Given the description of an element on the screen output the (x, y) to click on. 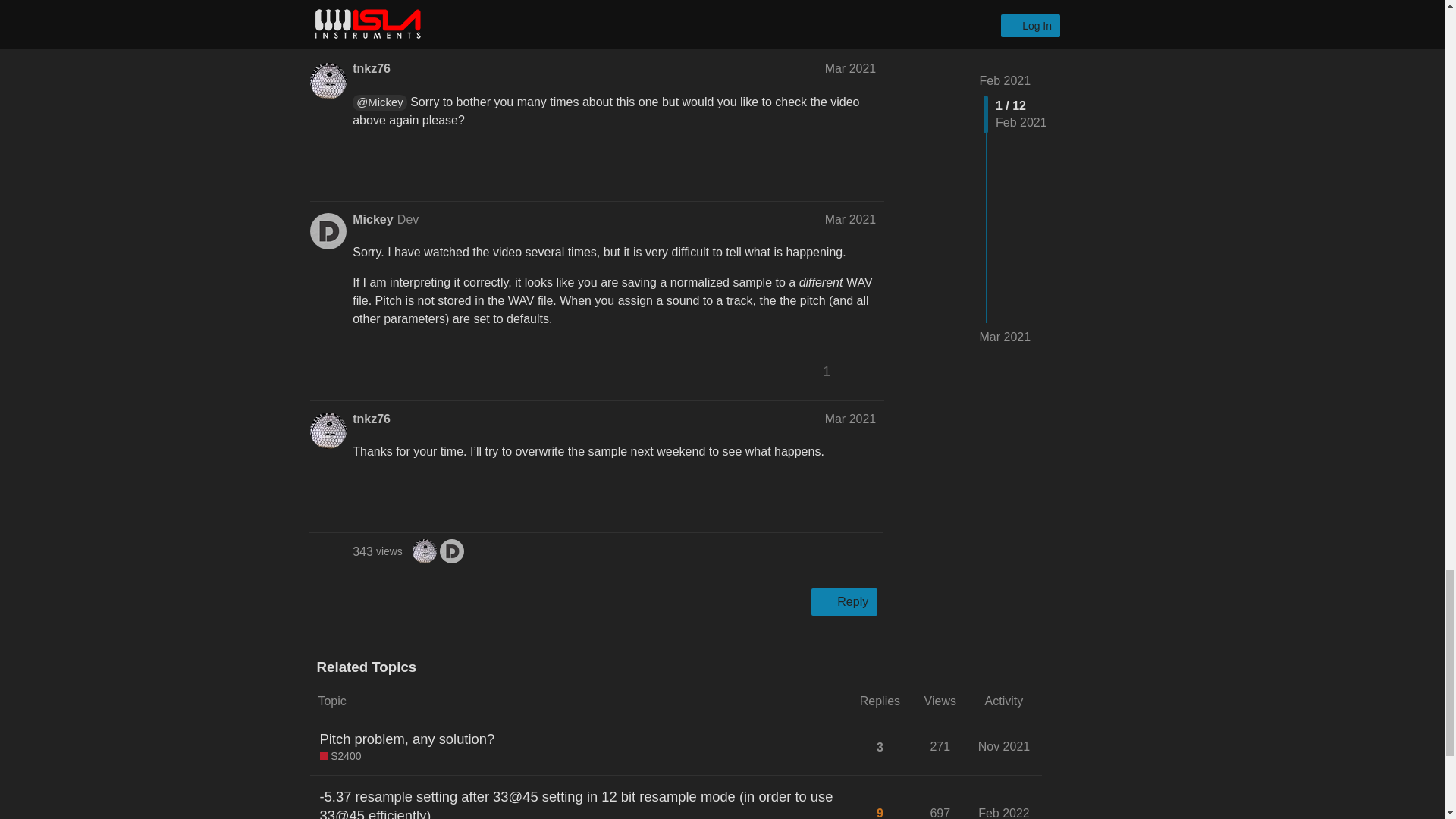
Mickey (451, 550)
tnkz76 (424, 550)
Mickey (451, 550)
tnkz76 (424, 550)
